Given the description of an element on the screen output the (x, y) to click on. 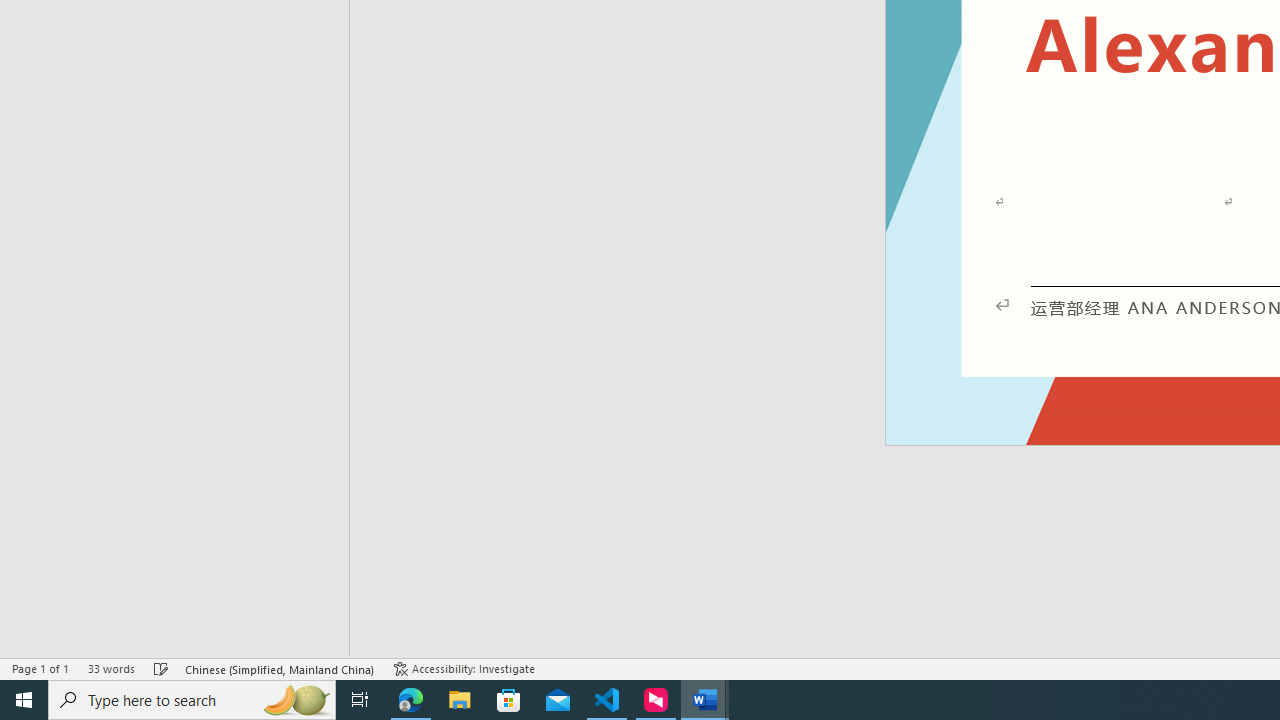
Search highlights icon opens search home window (295, 699)
